Given the description of an element on the screen output the (x, y) to click on. 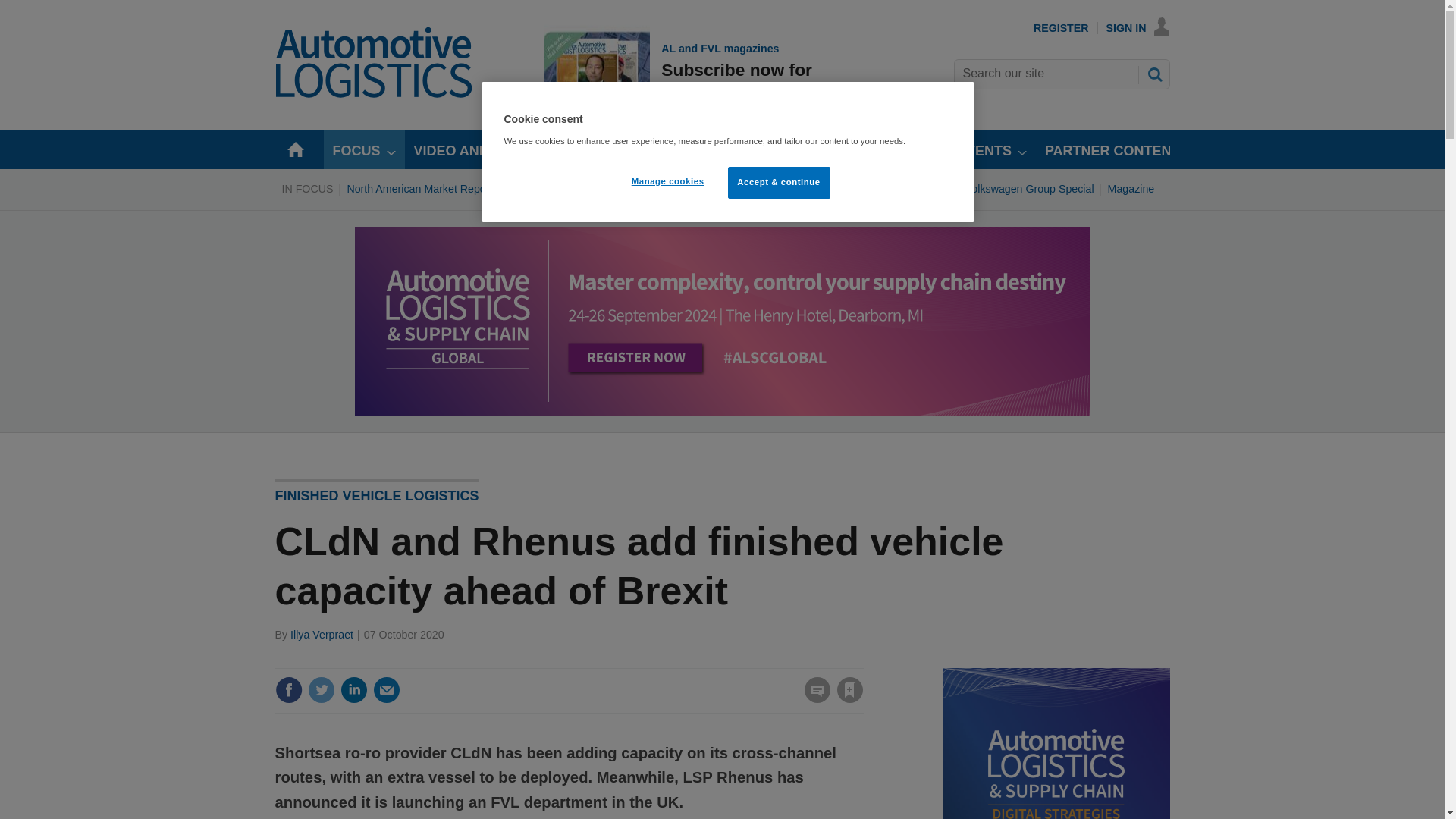
Share this on Linked in (679, 70)
3rd party ad content (352, 689)
Digital Strategies North America (1055, 743)
Share this on Facebook (636, 188)
No comments (288, 689)
SIGN IN (812, 698)
Share this on Twitter (1138, 28)
REGISTER (320, 689)
Email this article (1061, 28)
FVL North America 2024 (386, 689)
North American Market Report 2024-2033 (892, 188)
Volkswagen Group Special (446, 188)
SEARCH (1029, 188)
